Given the description of an element on the screen output the (x, y) to click on. 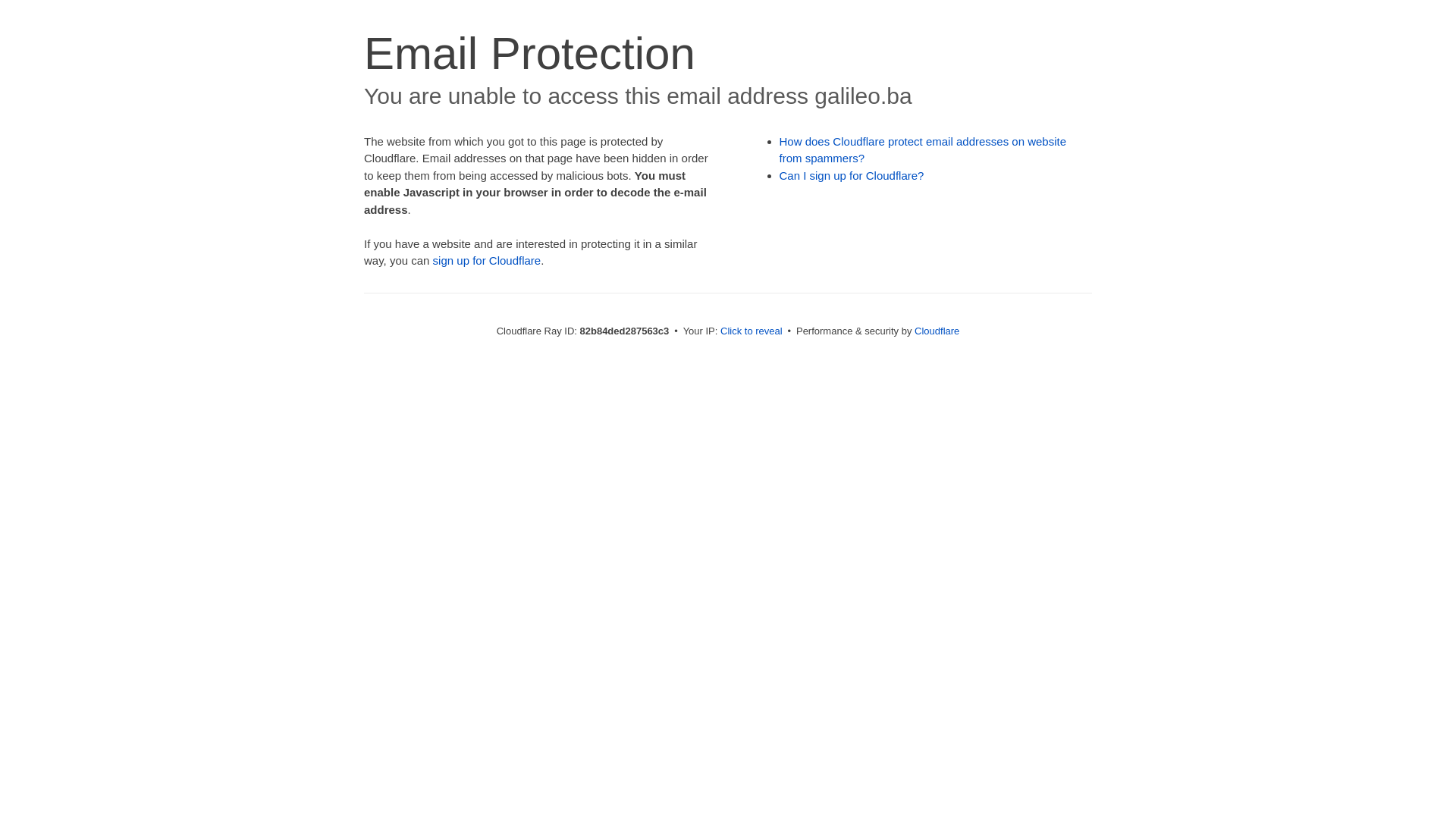
Cloudflare Element type: text (936, 330)
Click to reveal Element type: text (751, 330)
Can I sign up for Cloudflare? Element type: text (851, 175)
sign up for Cloudflare Element type: text (487, 260)
